Given the description of an element on the screen output the (x, y) to click on. 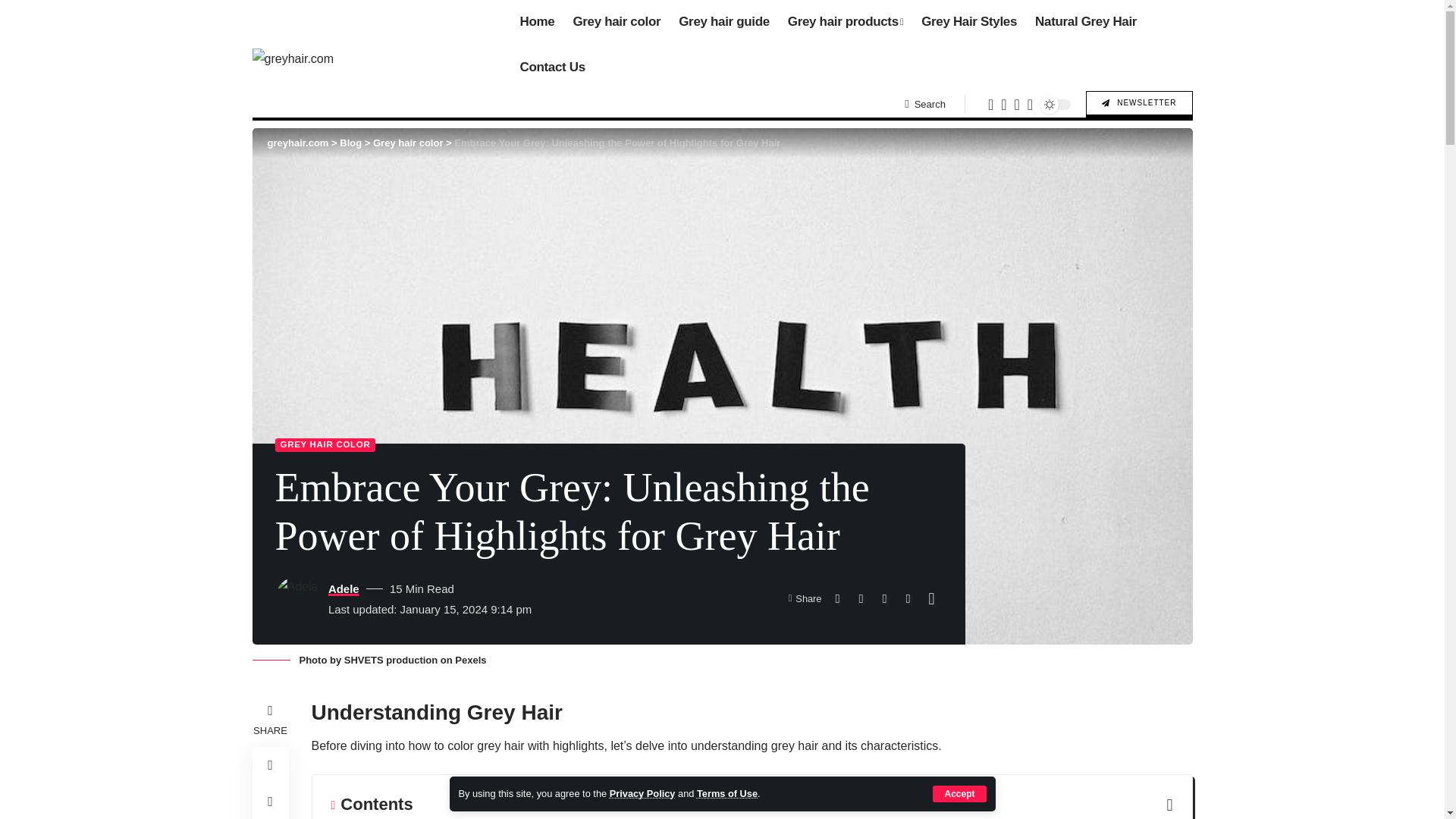
Go to Blog. (350, 142)
Go to the Grey hair color Category archives. (407, 142)
Terms of Use (727, 793)
Go to greyhair.com. (297, 142)
NEWSLETTER (1139, 103)
Natural Grey Hair (1085, 22)
Home (537, 22)
Accept (959, 793)
Grey hair guide (723, 22)
Grey Hair Styles (969, 22)
